Given the description of an element on the screen output the (x, y) to click on. 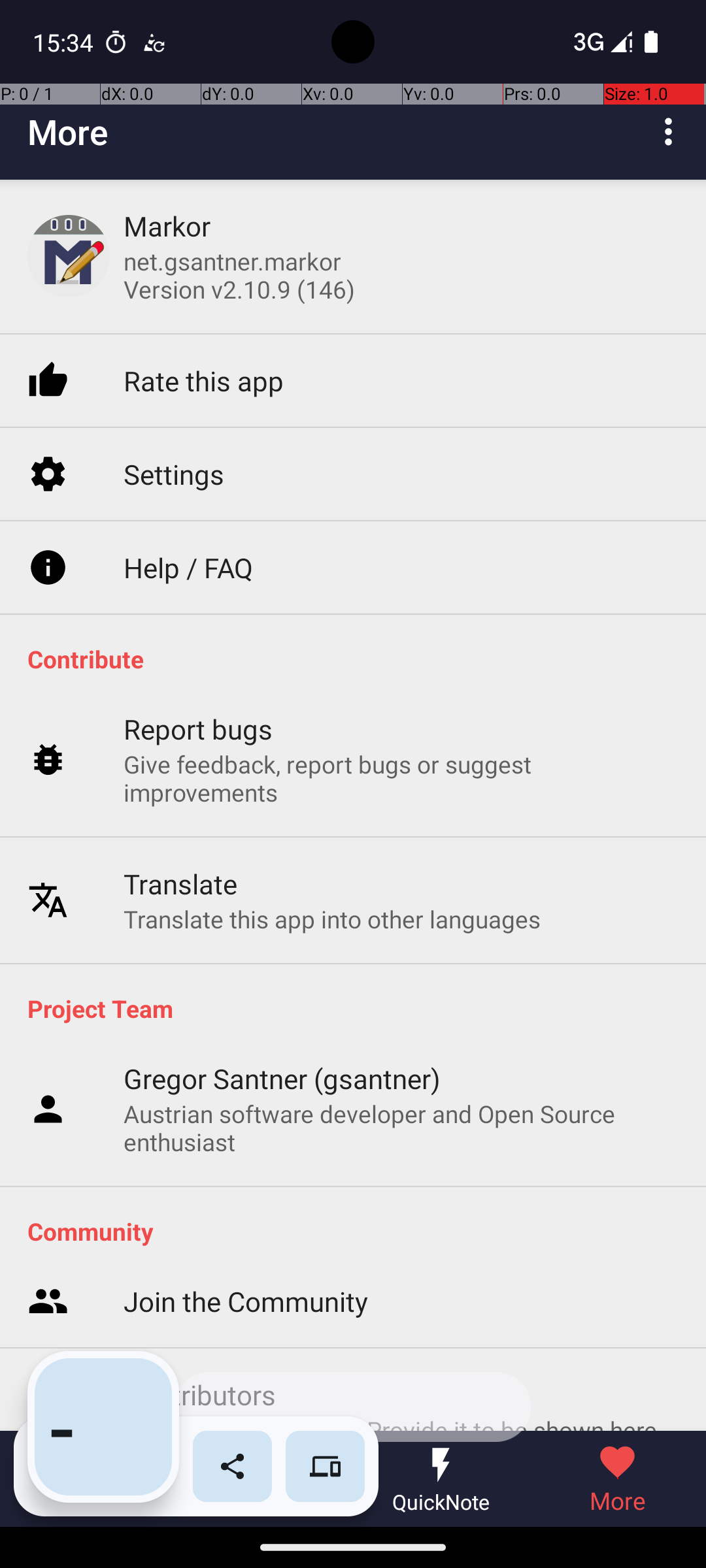
Send to nearby device Element type: android.widget.FrameLayout (324, 1466)
